Given the description of an element on the screen output the (x, y) to click on. 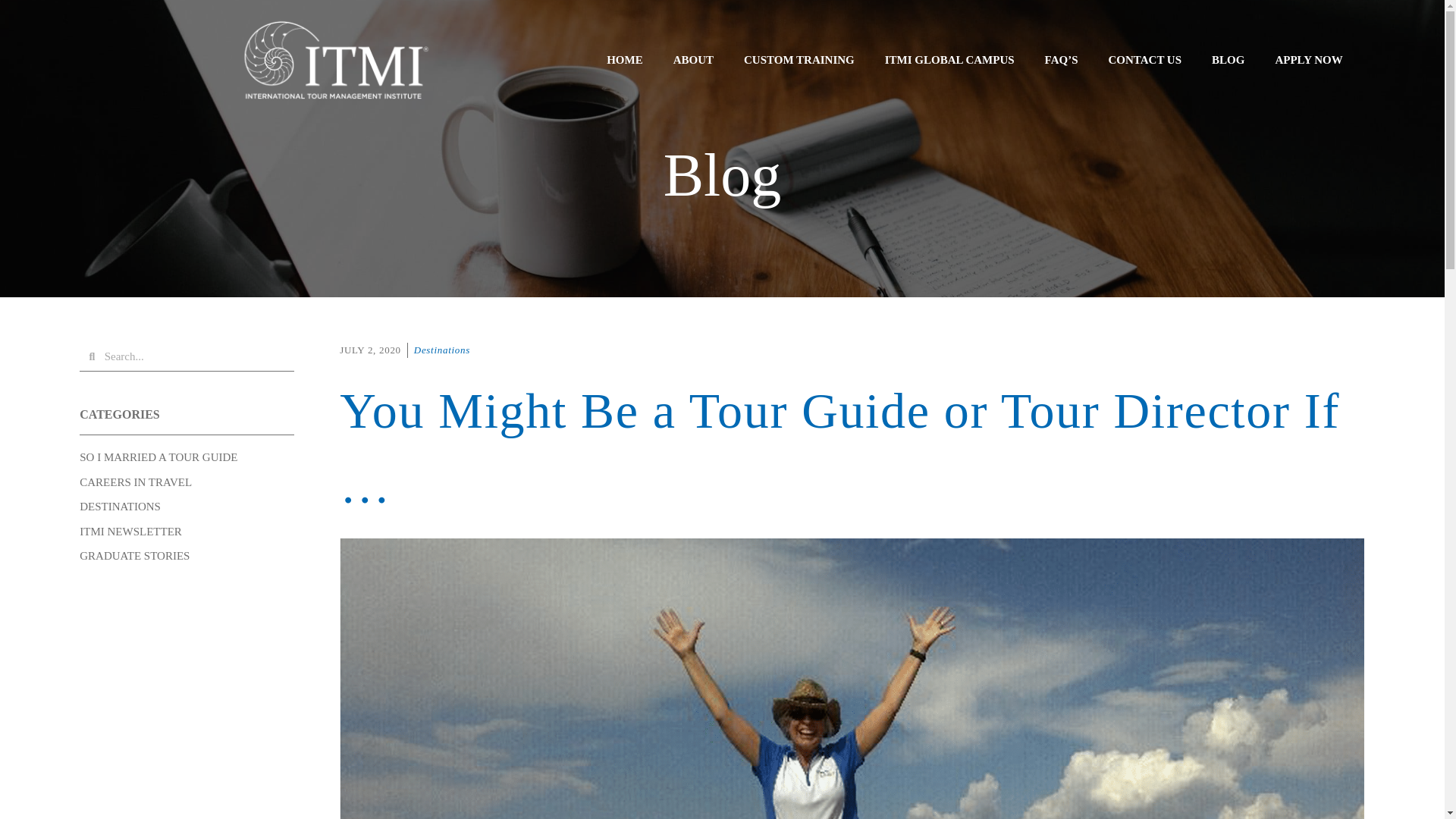
ABOUT (693, 59)
CONTACT US (1144, 59)
APPLY NOW (1307, 59)
ITMI GLOBAL CAMPUS (949, 59)
CUSTOM TRAINING (799, 59)
